Given the description of an element on the screen output the (x, y) to click on. 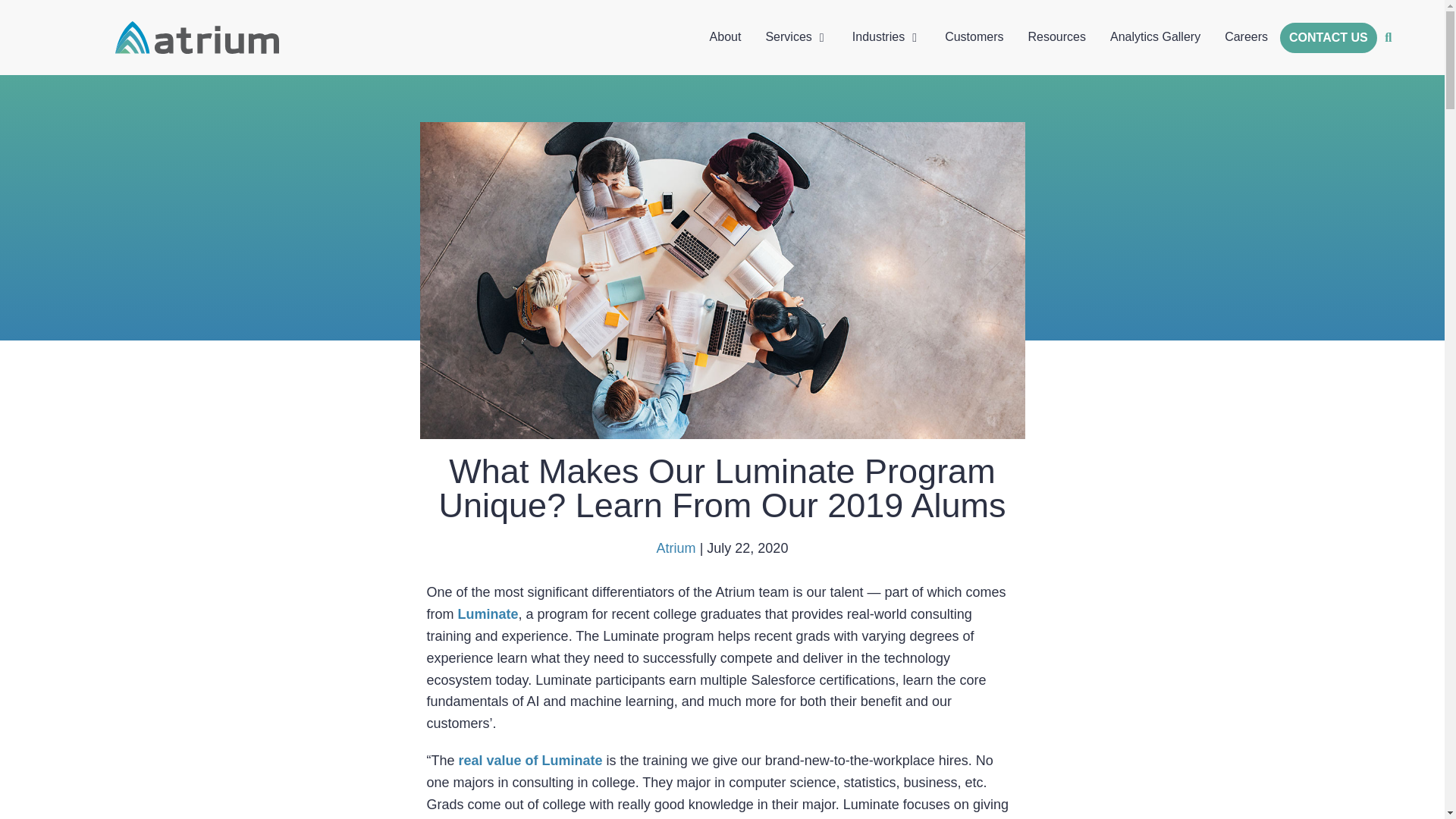
Atrium (675, 548)
Services (787, 37)
About (725, 37)
